Given the description of an element on the screen output the (x, y) to click on. 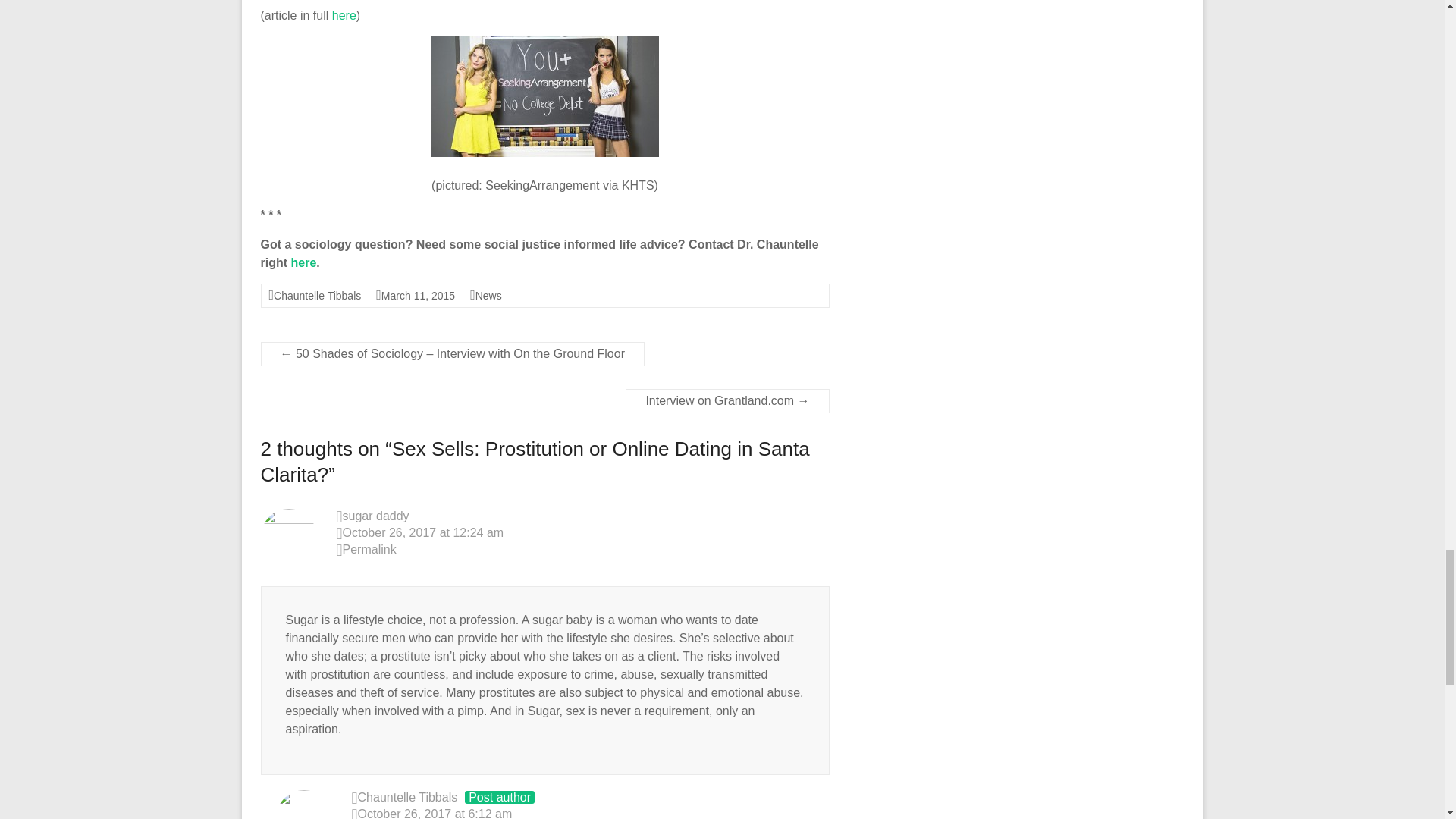
here (304, 262)
here (343, 15)
March 11, 2015 (417, 295)
Chauntelle Tibbals (408, 797)
2:02 am (417, 295)
News (489, 295)
Permalink (582, 550)
Chauntelle Tibbals (317, 295)
